Given the description of an element on the screen output the (x, y) to click on. 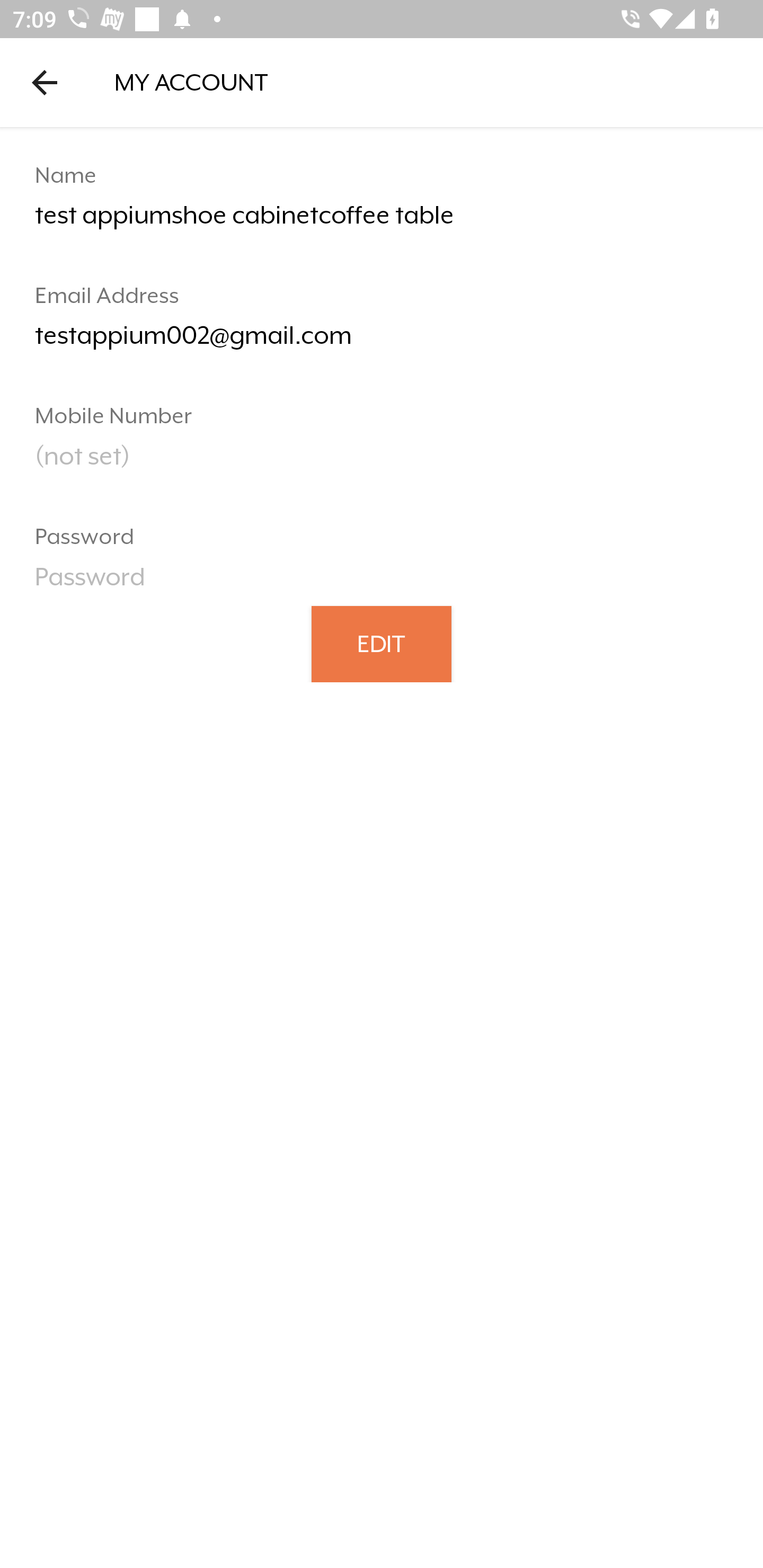
Navigate up (44, 82)
test appiumshoe cabinetcoffee table (381, 222)
testappium002@gmail.com (381, 342)
Password (381, 583)
EDIT (381, 643)
